Given the description of an element on the screen output the (x, y) to click on. 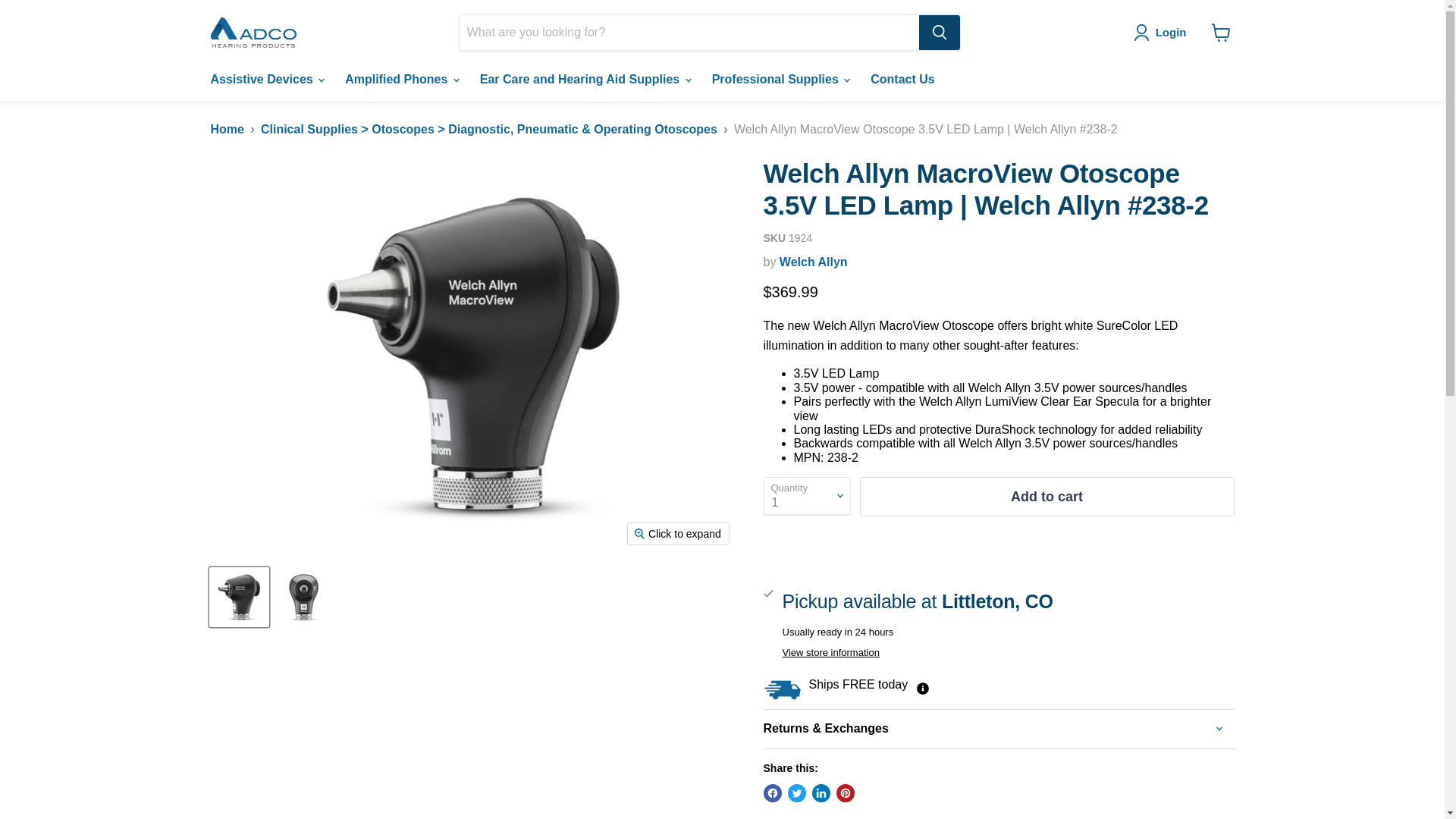
Welch Allyn (812, 261)
Login (1163, 32)
View cart (1221, 32)
